Given the description of an element on the screen output the (x, y) to click on. 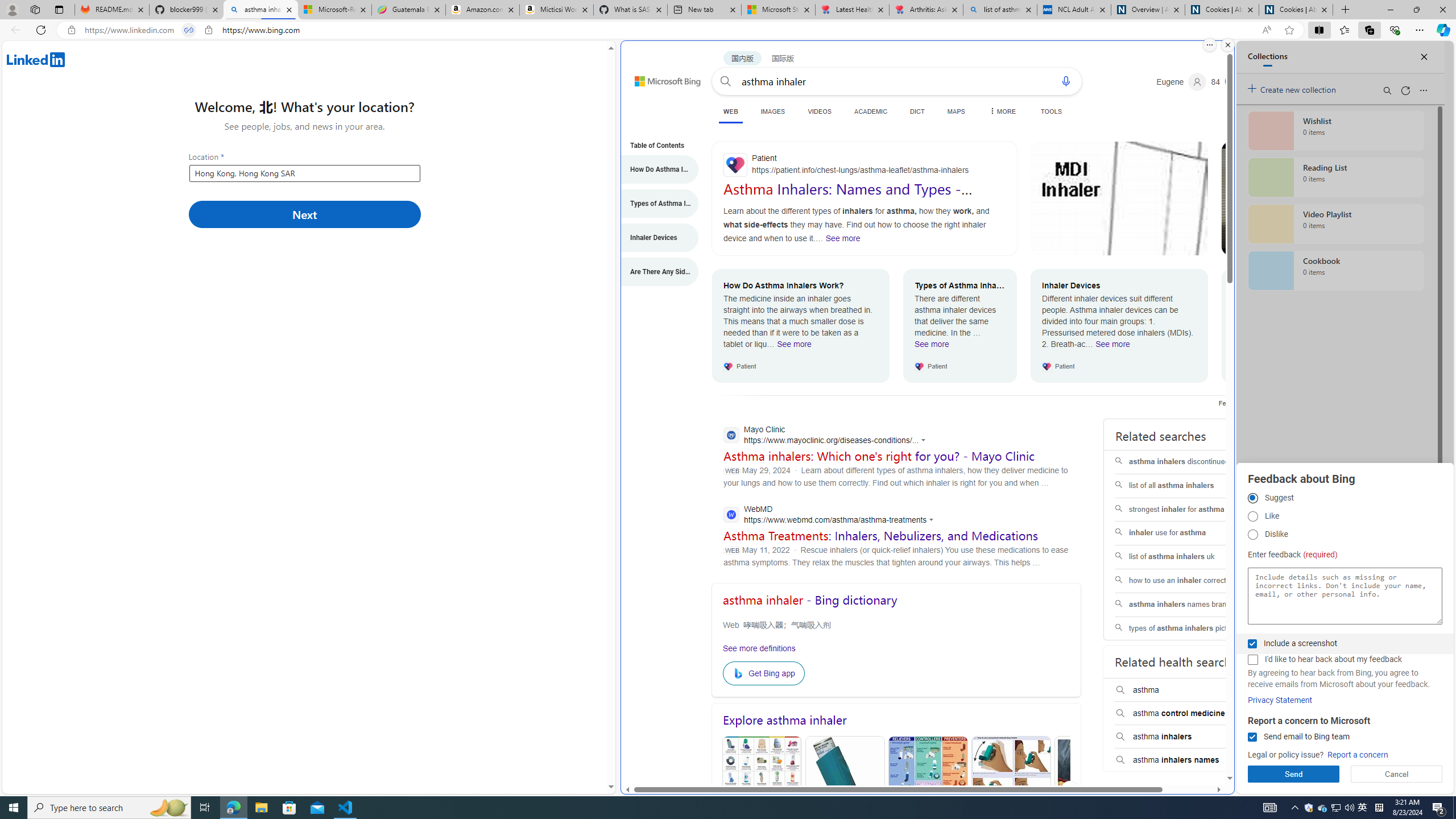
asthma inhaler - Search (260, 9)
asthma inhaler - Bing dictionary (809, 599)
Tabs in split screen (189, 29)
strongest inhaler for asthma (1187, 509)
asthma inhalers names brands (1187, 604)
Privacy Statement (1280, 700)
Search using voice (1065, 80)
